Given the description of an element on the screen output the (x, y) to click on. 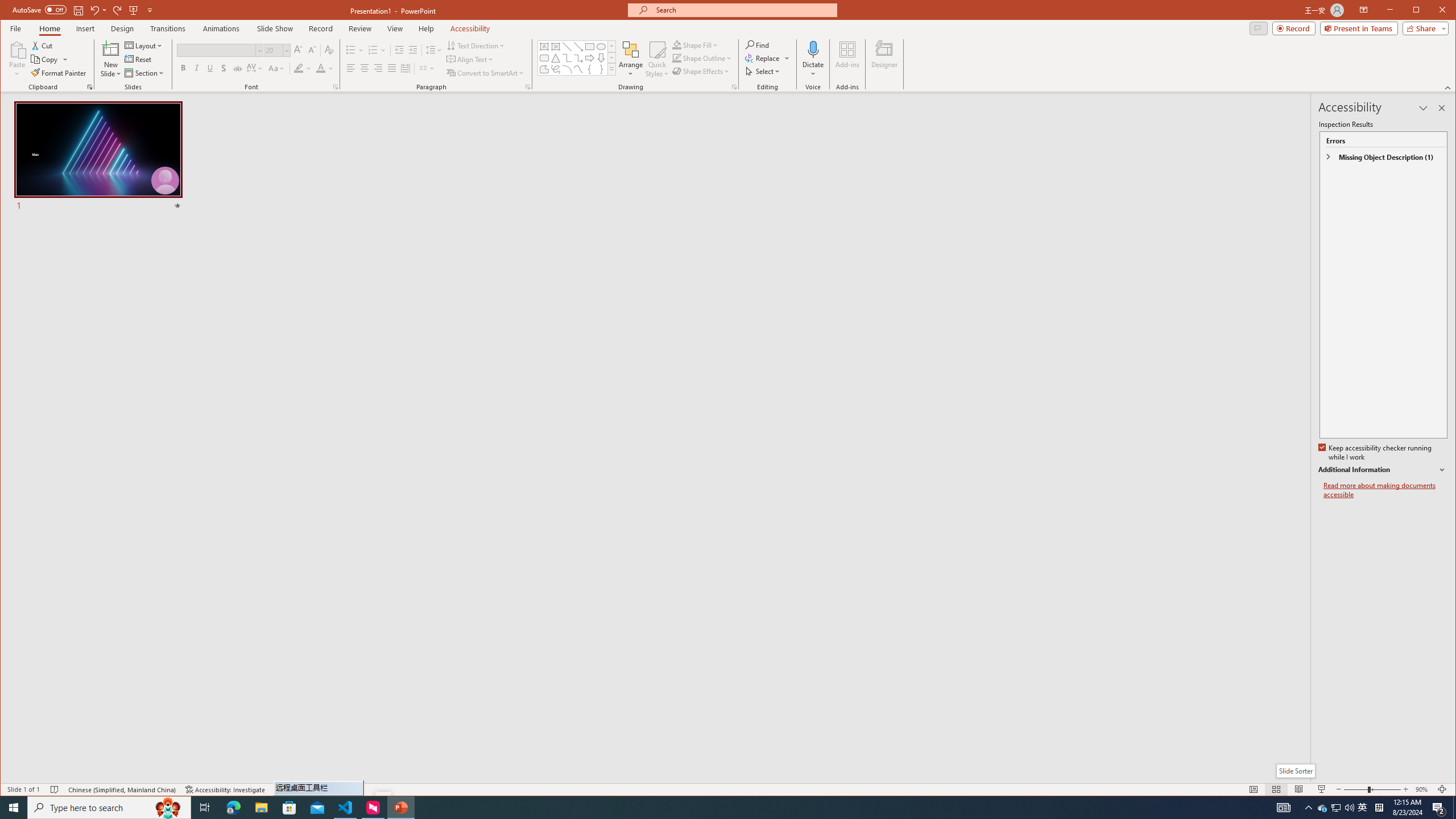
Line Spacing (433, 49)
Cut (42, 45)
Additional Information (1382, 469)
File Explorer (261, 807)
Vertical Text Box (556, 46)
Character Spacing (254, 68)
Line Arrow (577, 46)
Shape Effects (702, 70)
Microsoft Edge (1362, 807)
Bold (233, 807)
